Given the description of an element on the screen output the (x, y) to click on. 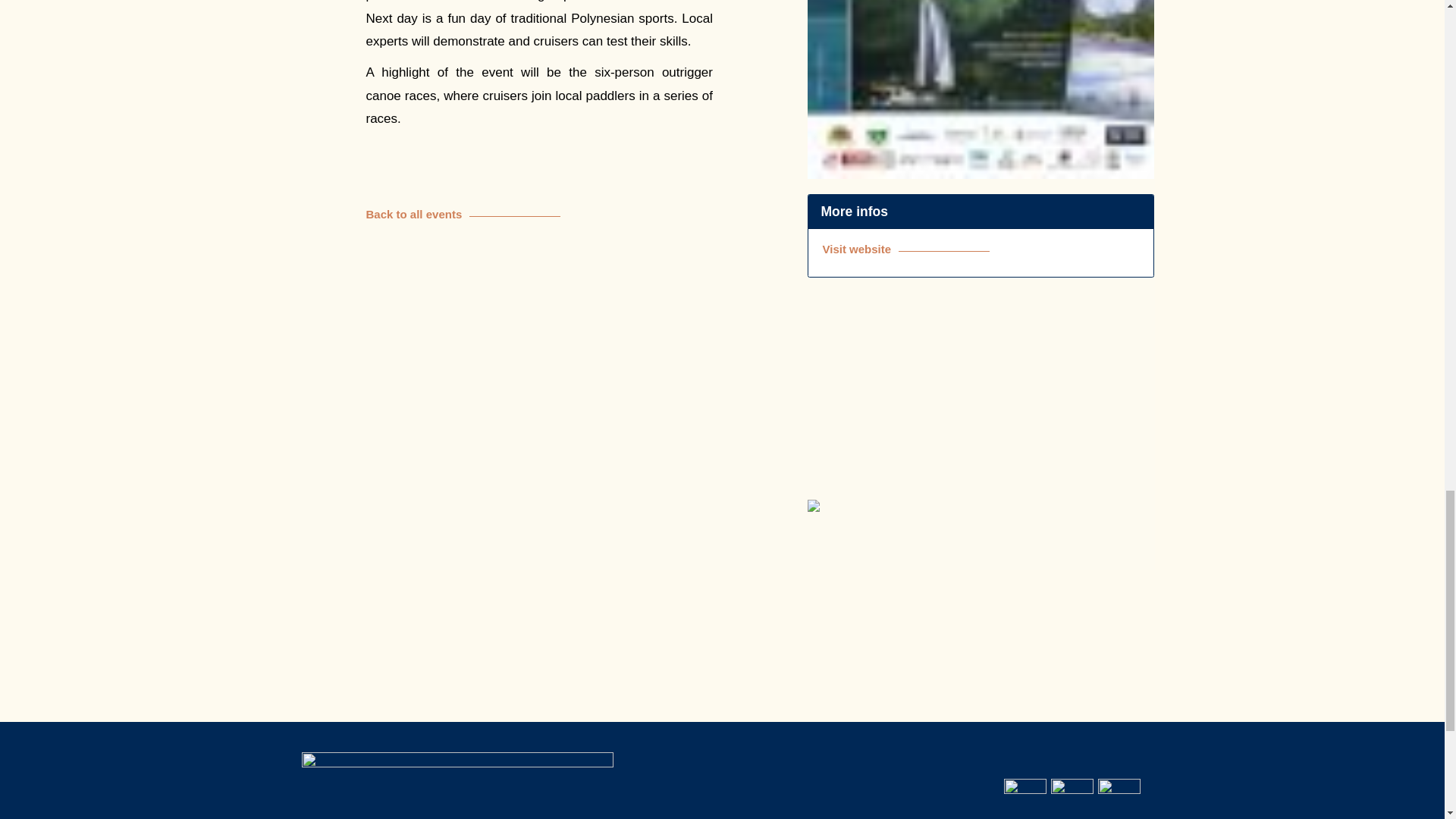
Visit website (981, 249)
Back to all events (538, 214)
